Given the description of an element on the screen output the (x, y) to click on. 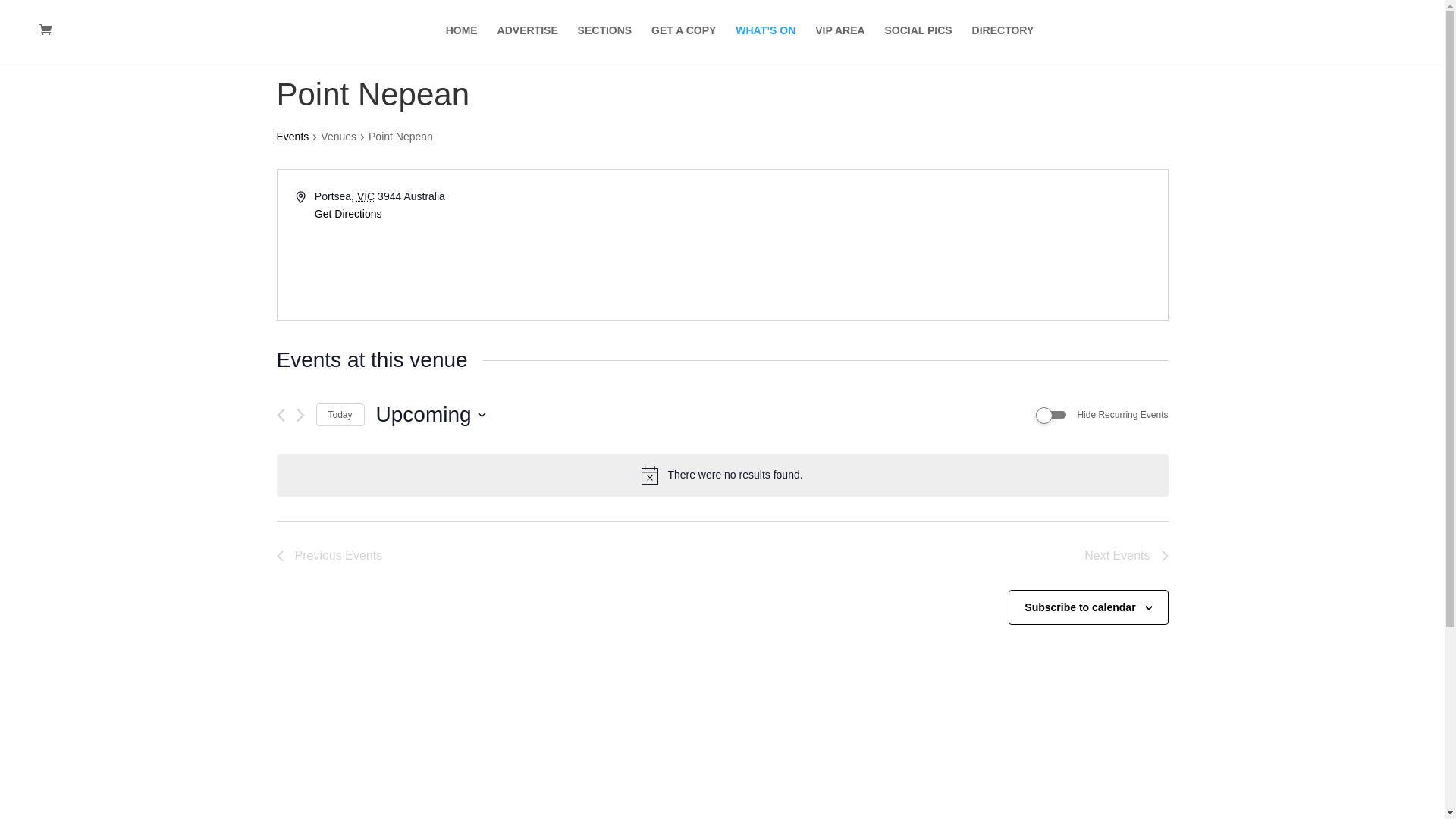
Events Element type: text (292, 137)
Previous Events Element type: hover (280, 414)
SECTIONS Element type: text (604, 42)
Previous Events Element type: text (329, 555)
HOME Element type: text (461, 42)
Next Events Element type: text (1125, 555)
Google maps iframe displaying the address to Point Nepean Element type: hover (943, 244)
GET A COPY Element type: text (683, 42)
Upcoming Element type: text (431, 414)
SOCIAL PICS Element type: text (917, 42)
ADVERTISE Element type: text (527, 42)
Next Events Element type: hover (299, 414)
VIP AREA Element type: text (839, 42)
Get Directions Element type: text (348, 214)
DIRECTORY Element type: text (1003, 42)
Today Element type: text (339, 414)
Subscribe to calendar Element type: text (1079, 607)
